Given the description of an element on the screen output the (x, y) to click on. 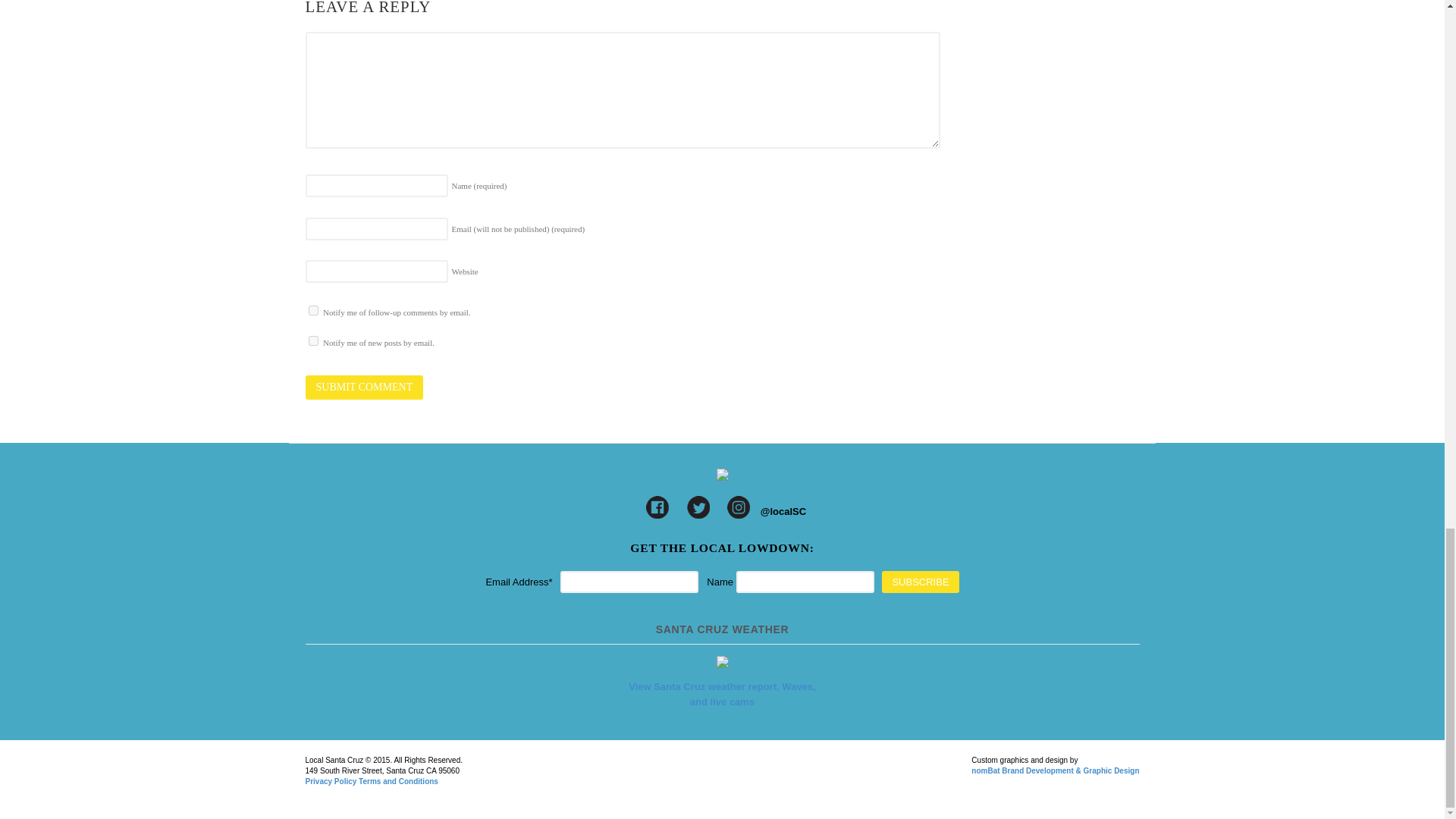
Subscribe (920, 581)
Submit Comment (363, 387)
subscribe (312, 310)
subscribe (312, 340)
